Given the description of an element on the screen output the (x, y) to click on. 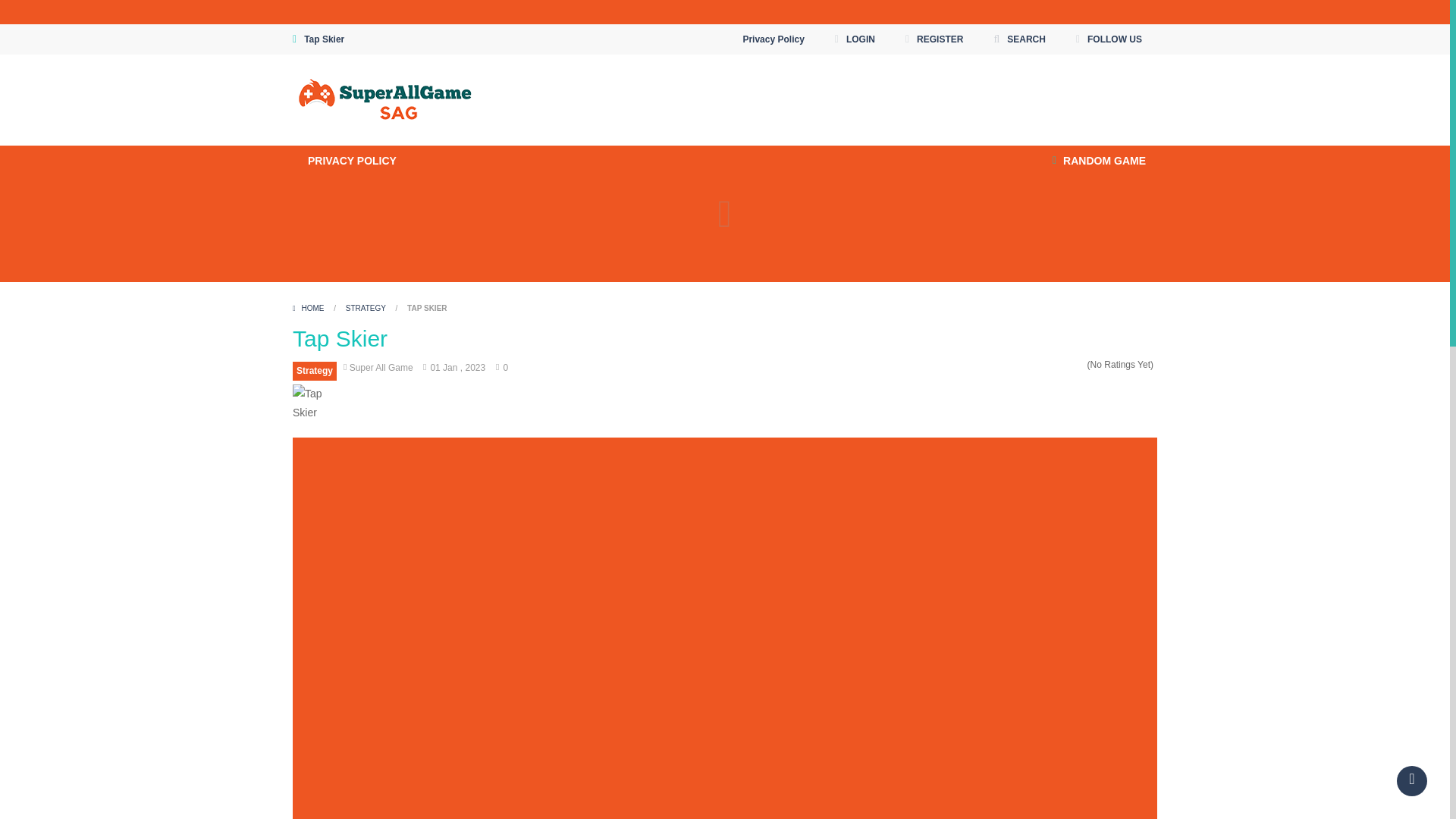
LOGIN (855, 39)
REGISTER (933, 39)
Play a random game! (1099, 160)
Privacy Policy (772, 39)
Super All Game (385, 100)
Super All Game (385, 99)
PRIVACY POLICY (352, 160)
SEARCH (1019, 39)
FOLLOW US (1108, 39)
RANDOM GAME (1099, 160)
